Given the description of an element on the screen output the (x, y) to click on. 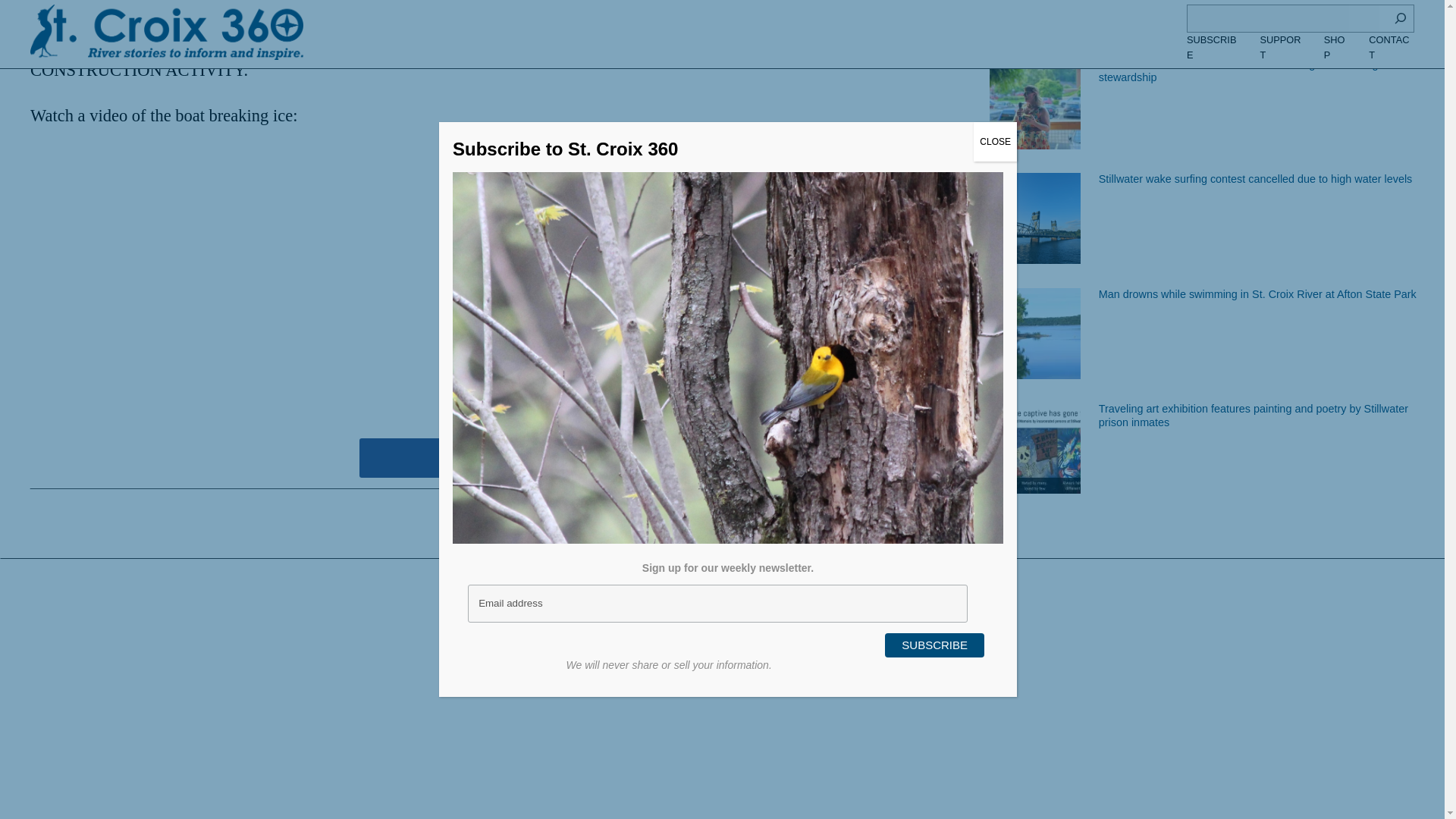
SUPPORT ST. CROIX 360 (485, 457)
Email address (717, 229)
SUBSCRIBE (934, 271)
